Given the description of an element on the screen output the (x, y) to click on. 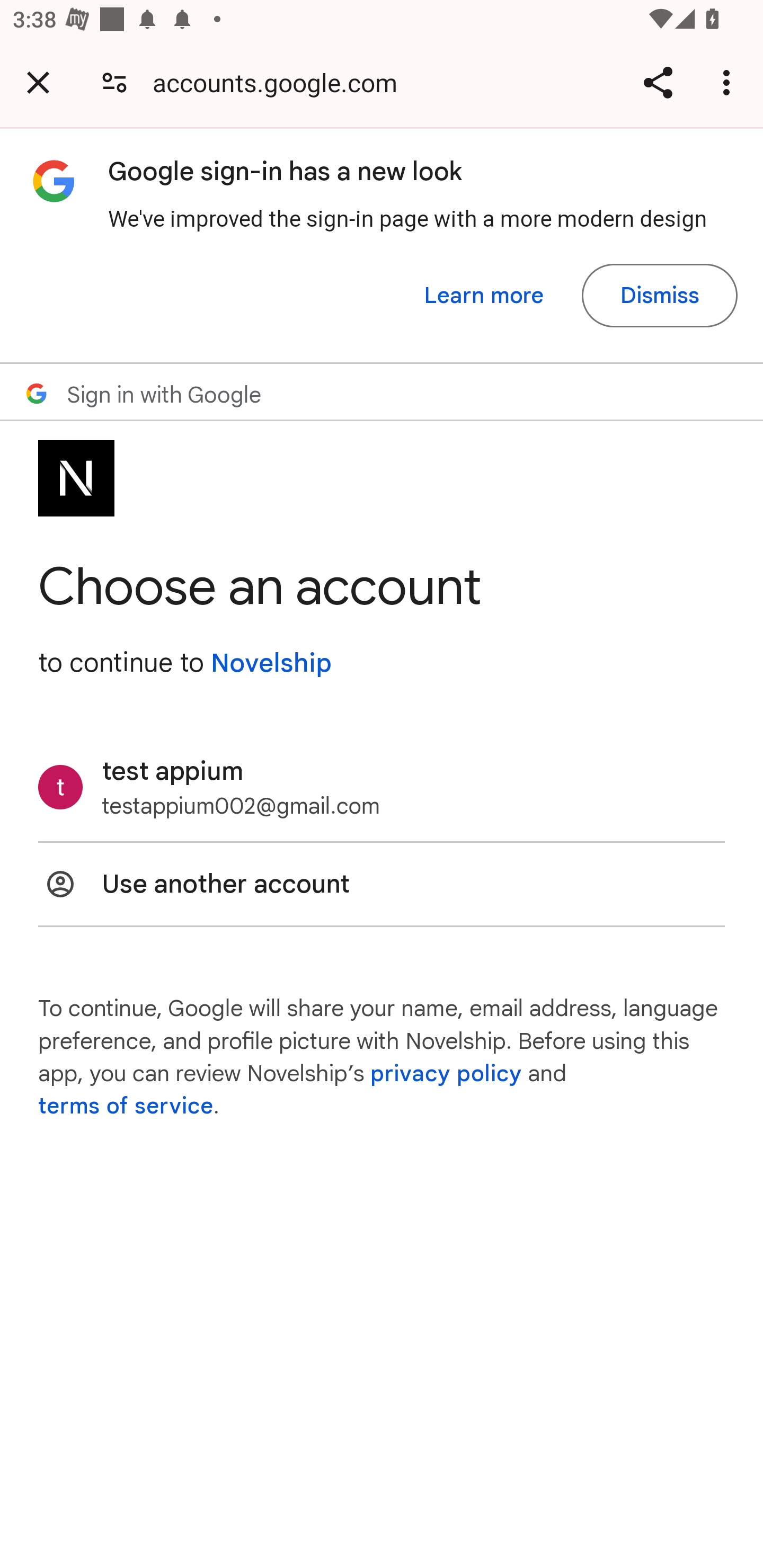
Close tab (38, 82)
Share (657, 82)
Customize and control Google Chrome (729, 82)
Connection is secure (114, 81)
accounts.google.com (281, 81)
Learn more (483, 295)
Dismiss (659, 295)
Novelship (270, 663)
Use another account (381, 884)
privacy policy (445, 1072)
terms of service (126, 1106)
